Given the description of an element on the screen output the (x, y) to click on. 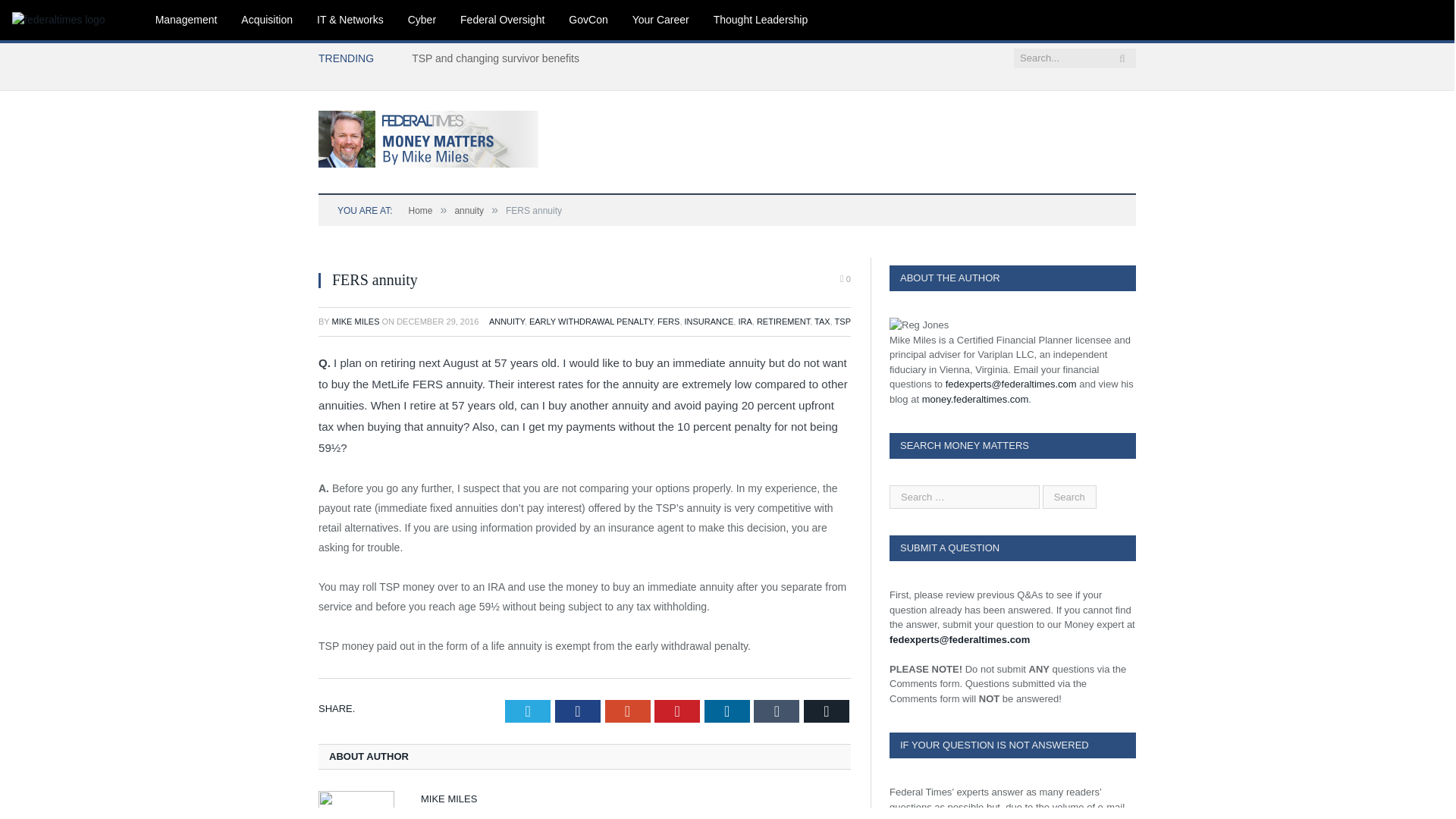
Home (419, 210)
MIKE MILES (355, 320)
Posts by Mike Miles (355, 320)
Tumblr (776, 711)
Facebook (576, 711)
Share on Facebook (576, 711)
Search (1069, 496)
Pinterest (676, 711)
GovCon (588, 19)
INSURANCE (708, 320)
